Given the description of an element on the screen output the (x, y) to click on. 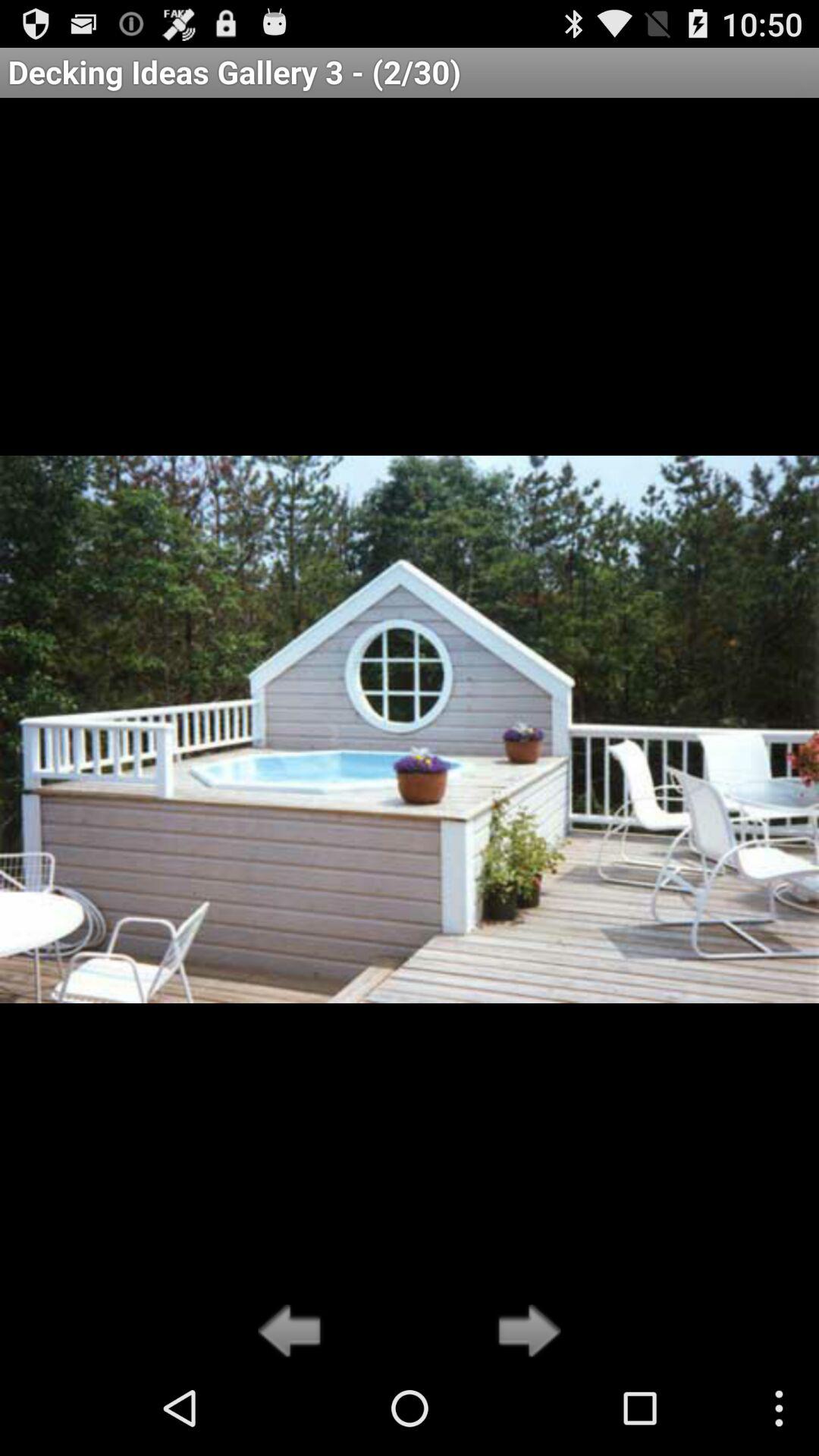
go forward (524, 1332)
